Given the description of an element on the screen output the (x, y) to click on. 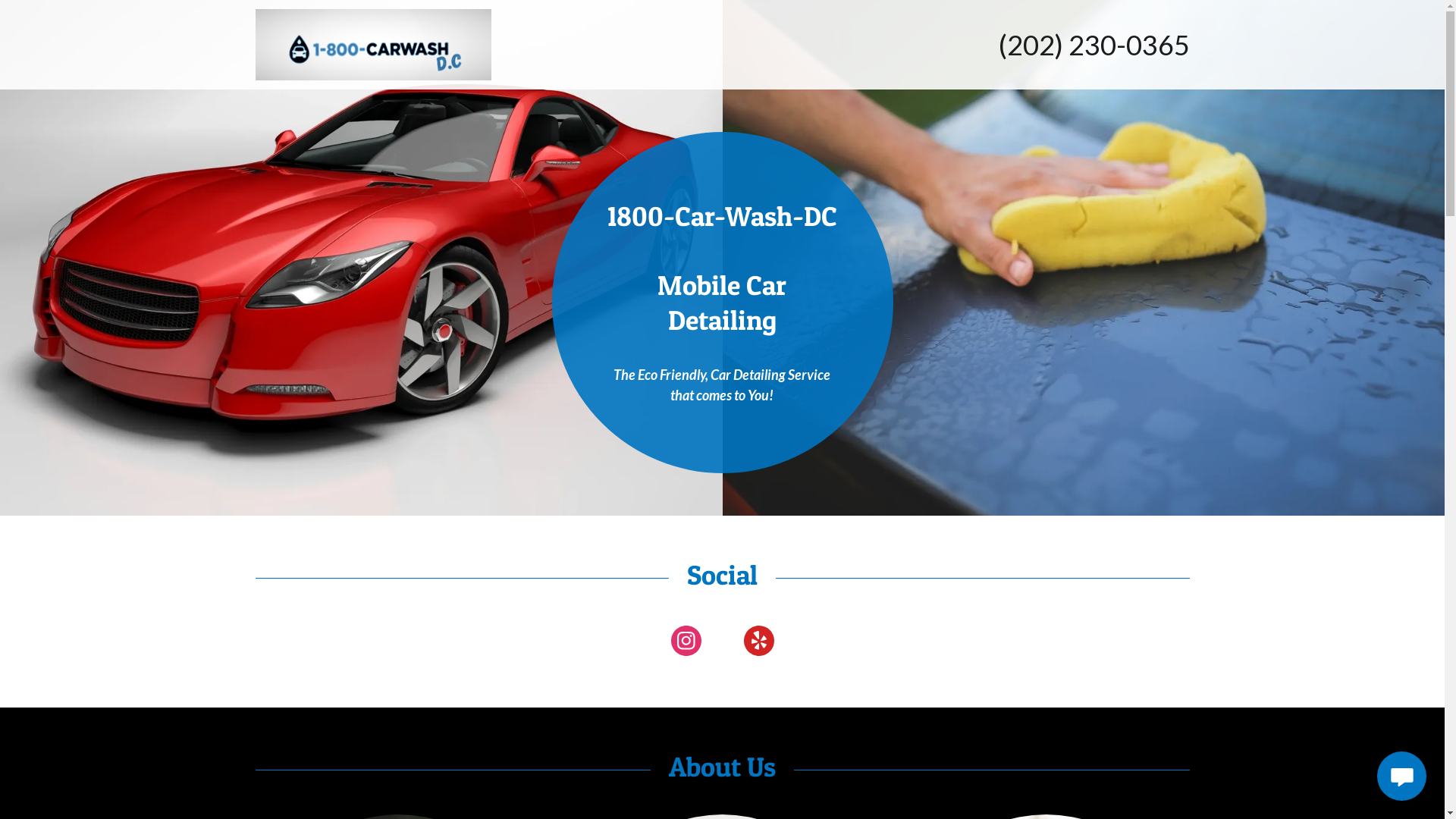
1800CarWashDC Element type: hover (372, 42)
(202) 230-0365 Element type: text (1093, 44)
